Given the description of an element on the screen output the (x, y) to click on. 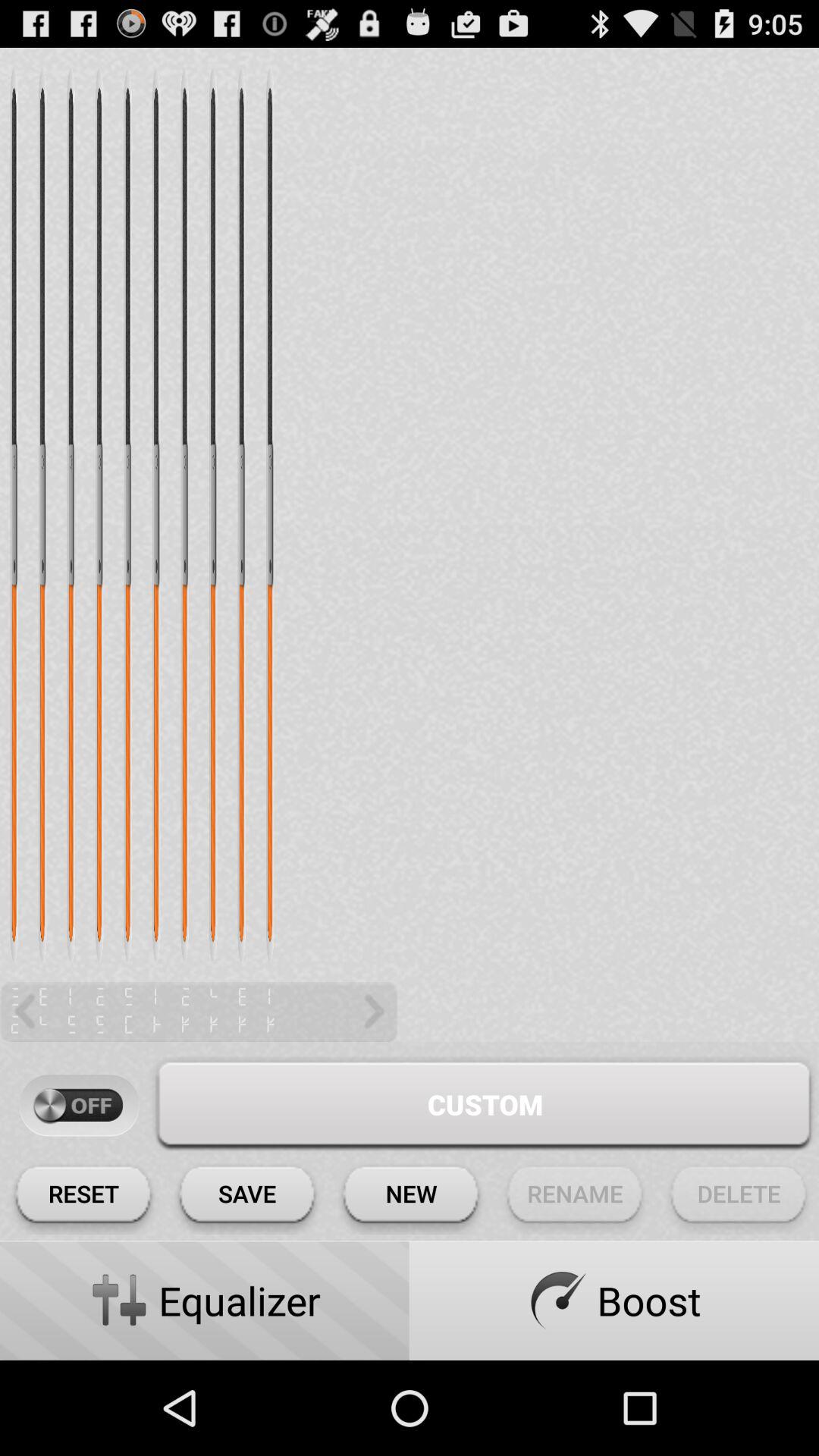
toggle off (79, 1105)
